Given the description of an element on the screen output the (x, y) to click on. 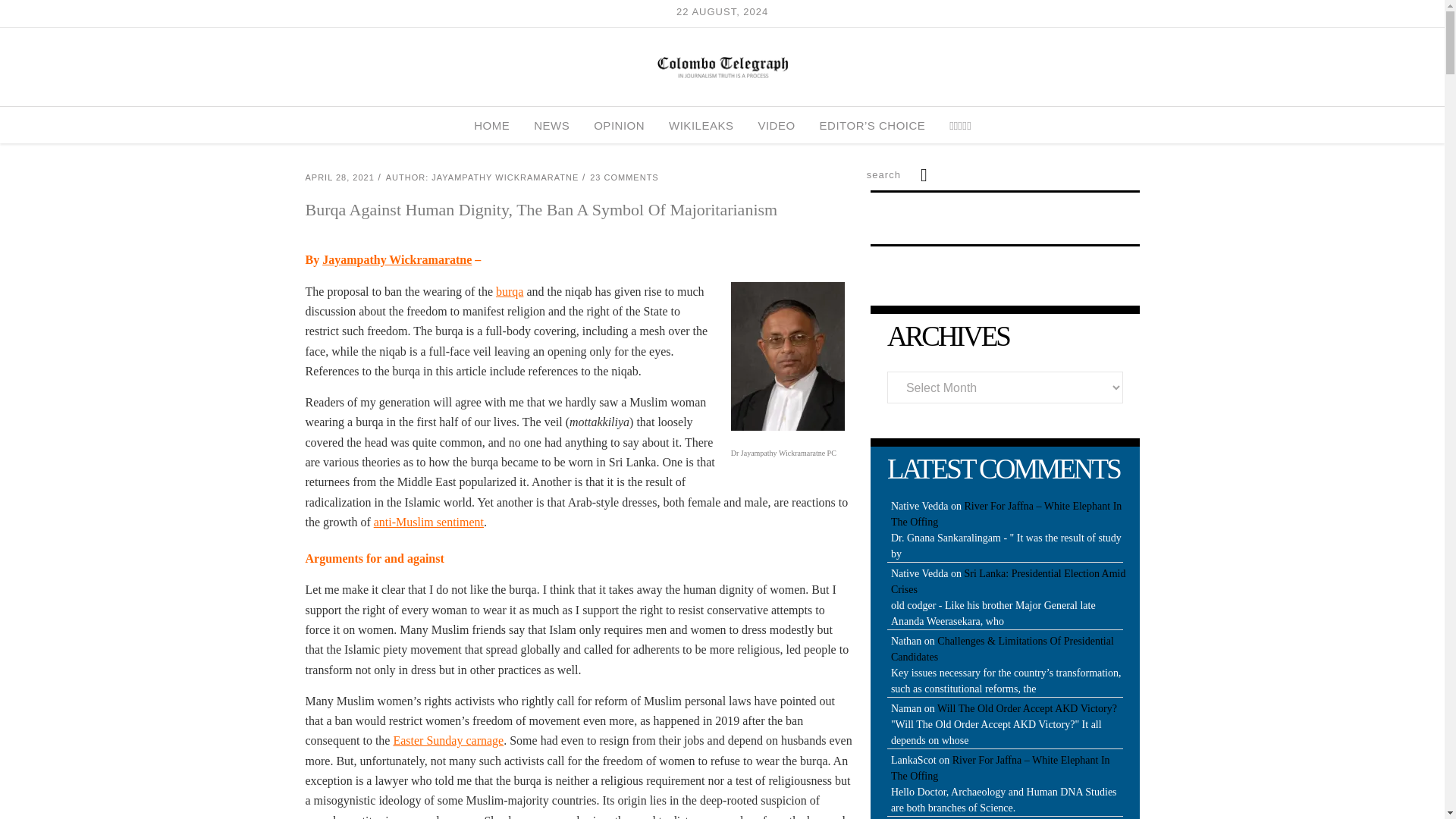
VIDEO (775, 125)
23 COMMENTS (623, 176)
WIKILEAKS (700, 125)
APRIL 28, 2021 (339, 176)
Easter Sunday carnage (448, 739)
HOME (491, 125)
AUTHOR: JAYAMPATHY WICKRAMARATNE (481, 176)
anti-Muslim sentiment (428, 521)
Jayampathy Wickramaratne (396, 259)
OPINION (618, 125)
